Given the description of an element on the screen output the (x, y) to click on. 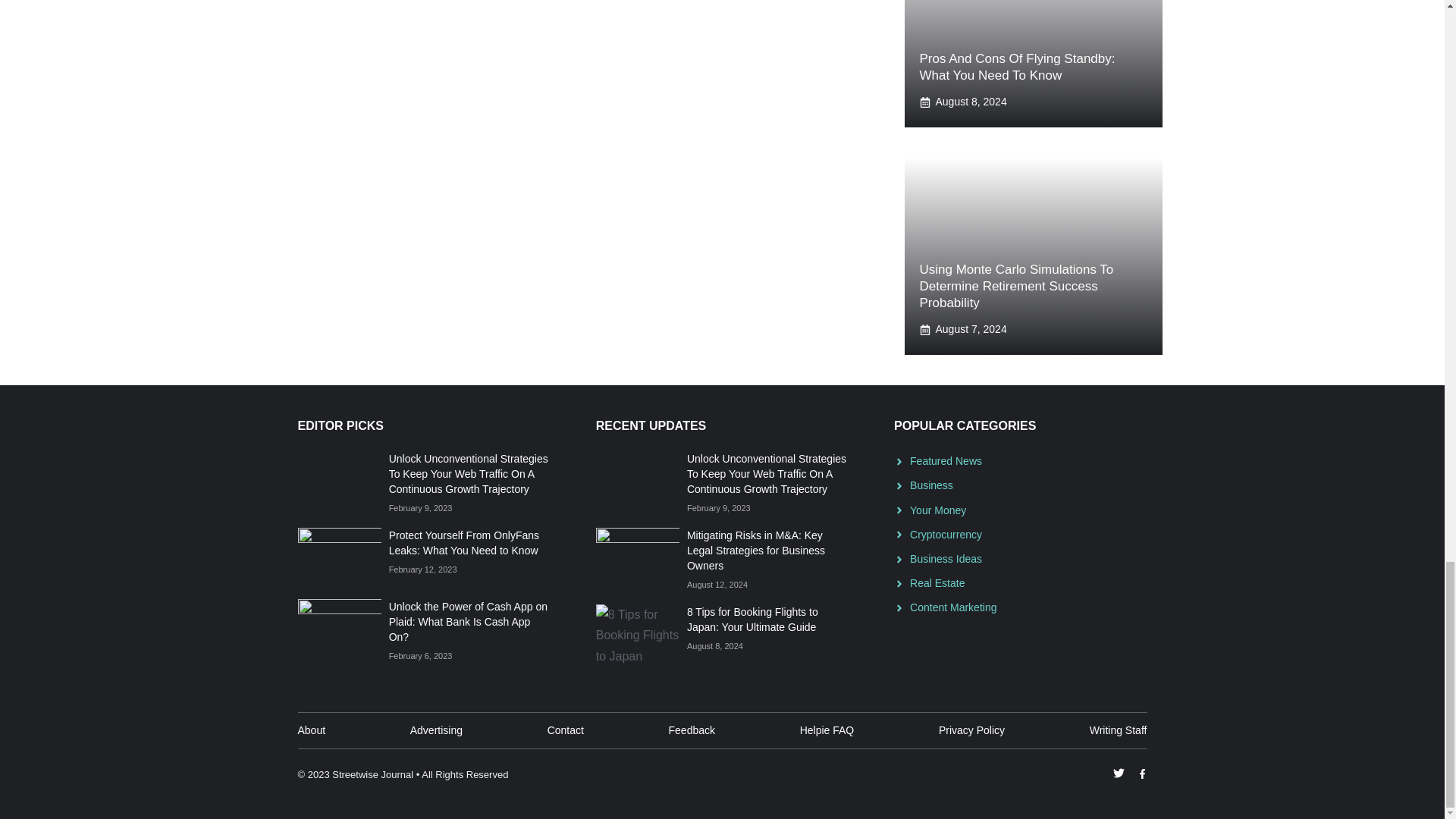
Protect Yourself From OnlyFans Leaks: What You Need to Know (463, 542)
Pros And Cons Of Flying Standby: What You Need To Know (1016, 66)
